Given the description of an element on the screen output the (x, y) to click on. 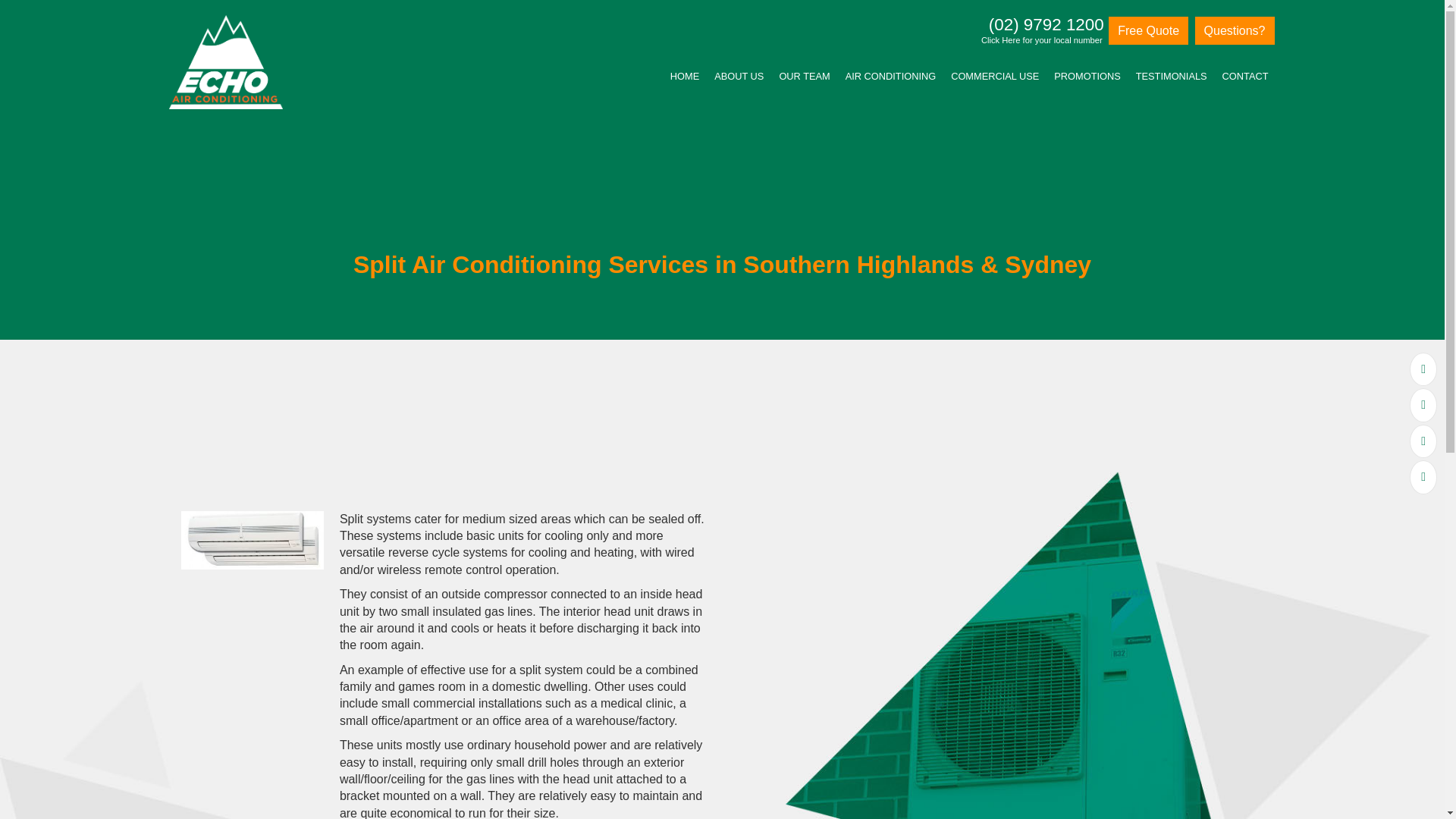
PROMOTIONS (1086, 76)
Questions? (1235, 30)
AIR CONDITIONING (890, 76)
HOME (684, 76)
COMMERCIAL USE (994, 76)
Free Quote (1148, 30)
ABOUT US (738, 76)
Click Here for your local number (1041, 40)
TESTIMONIALS (1171, 76)
CONTACT (1245, 76)
OUR TEAM (804, 76)
